Given the description of an element on the screen output the (x, y) to click on. 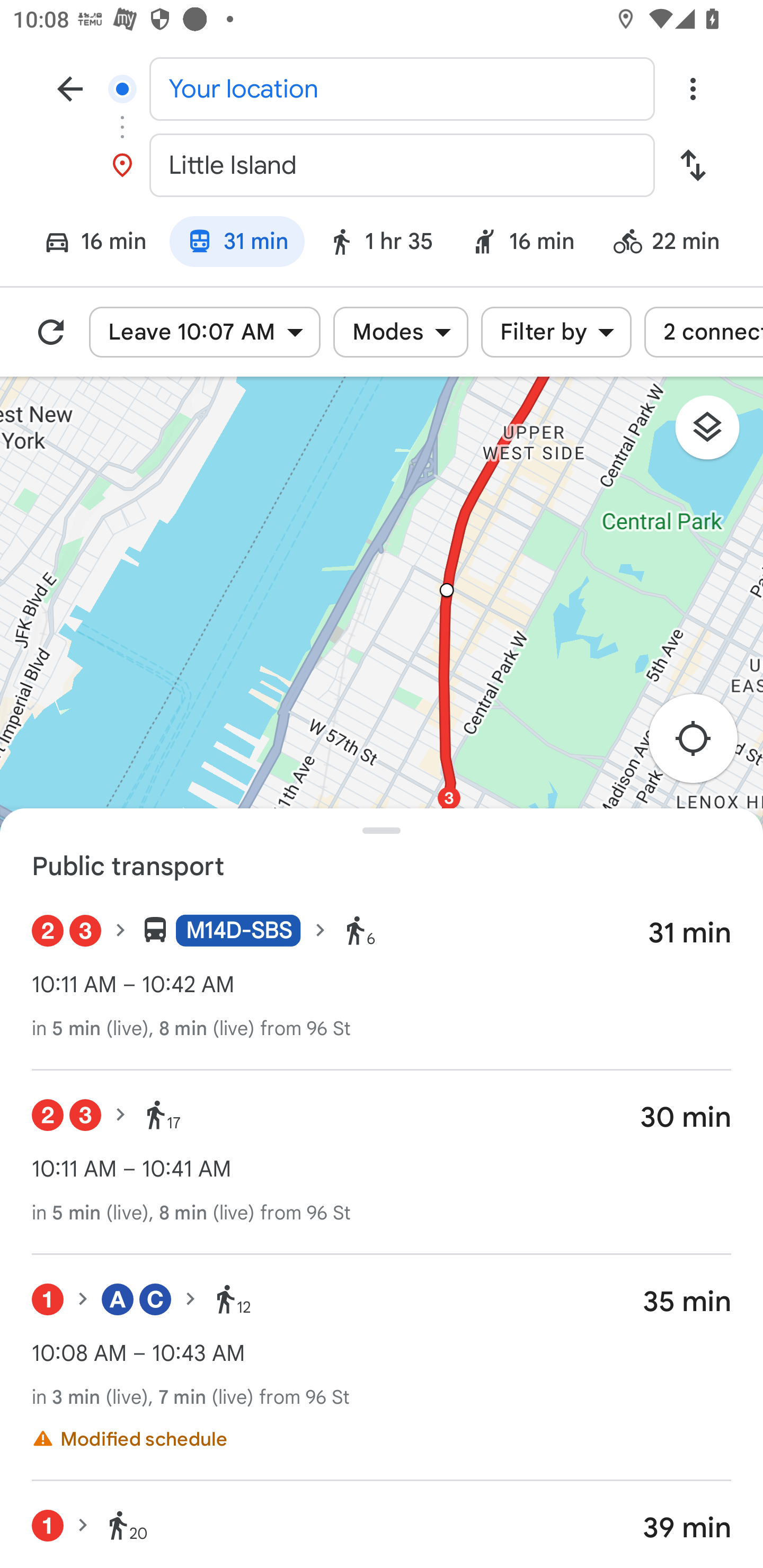
Navigate up (70, 88)
Your location Start location, Your location (381, 88)
Overflow menu (692, 88)
Little Island Destination, Little Island (381, 165)
Swap start and destination (692, 165)
Driving mode: 16 min 16 min (86, 244)
Walking mode: 1 hr 35 1 hr 35 (379, 244)
Ride service: 16 min 16 min (522, 244)
Bicycling mode: 22 min 22 min (674, 244)
Refresh (50, 332)
Leave 10:07 AM Leave 10:07 AM Leave 10:07 AM (204, 332)
Modes Modes Modes (400, 332)
Filter by Filter by Filter by (556, 332)
Layers (716, 433)
Re-center map to your location (702, 743)
